Given the description of an element on the screen output the (x, y) to click on. 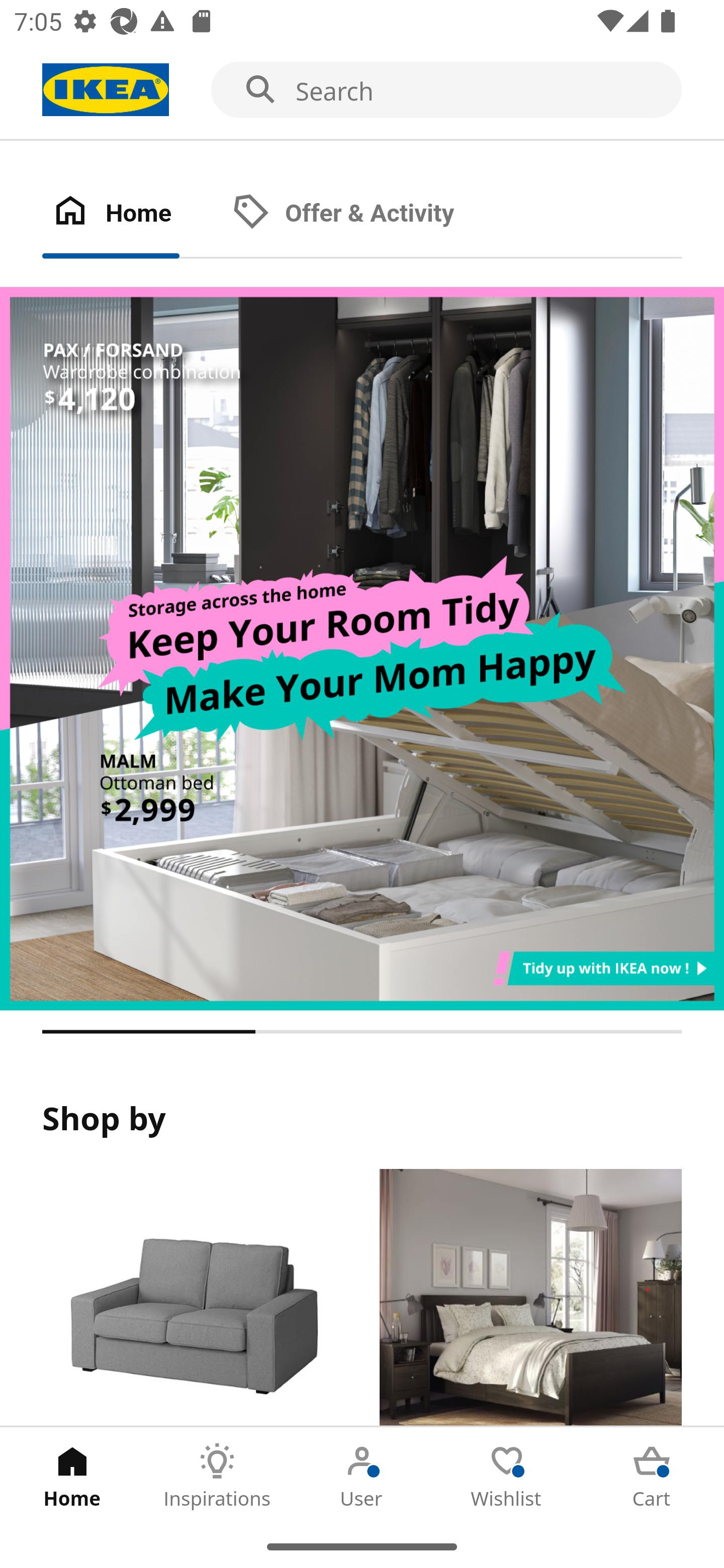
Search (361, 90)
Home
Tab 1 of 2 (131, 213)
Offer & Activity
Tab 2 of 2 (363, 213)
Products (192, 1297)
Rooms (530, 1297)
Home
Tab 1 of 5 (72, 1476)
Inspirations
Tab 2 of 5 (216, 1476)
User
Tab 3 of 5 (361, 1476)
Wishlist
Tab 4 of 5 (506, 1476)
Cart
Tab 5 of 5 (651, 1476)
